Given the description of an element on the screen output the (x, y) to click on. 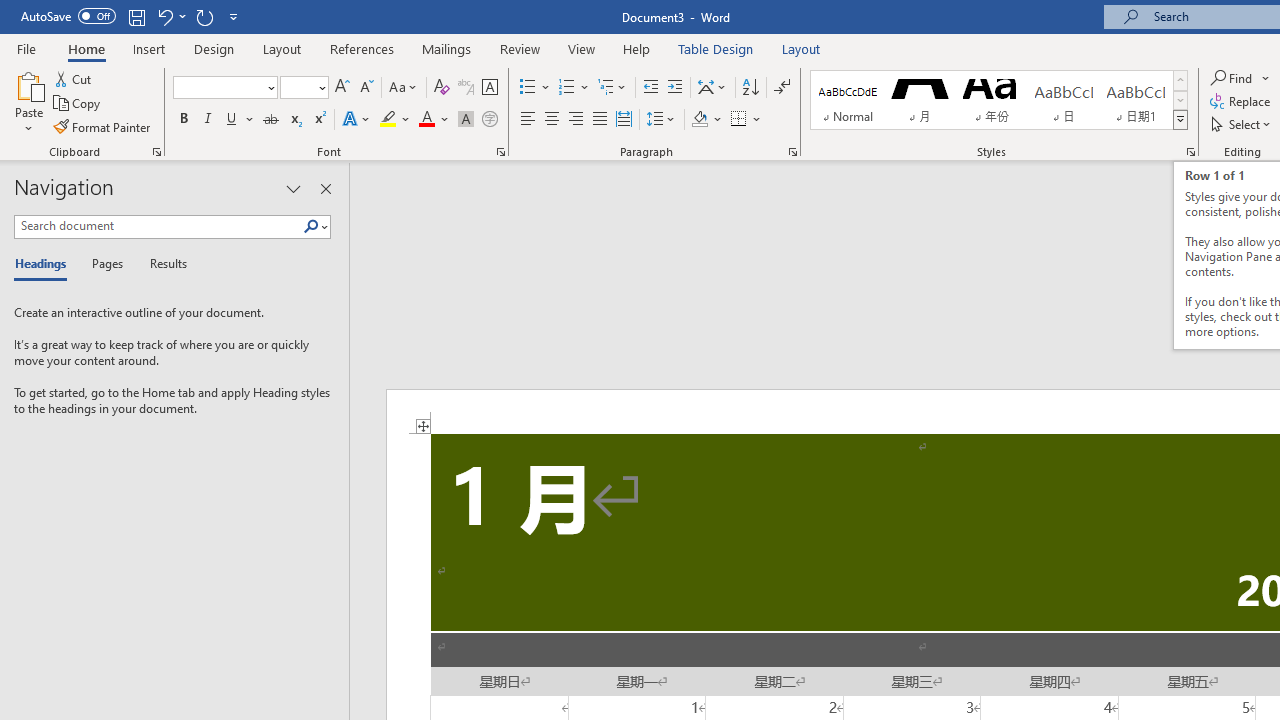
Undo Distribute Para (170, 15)
